Given the description of an element on the screen output the (x, y) to click on. 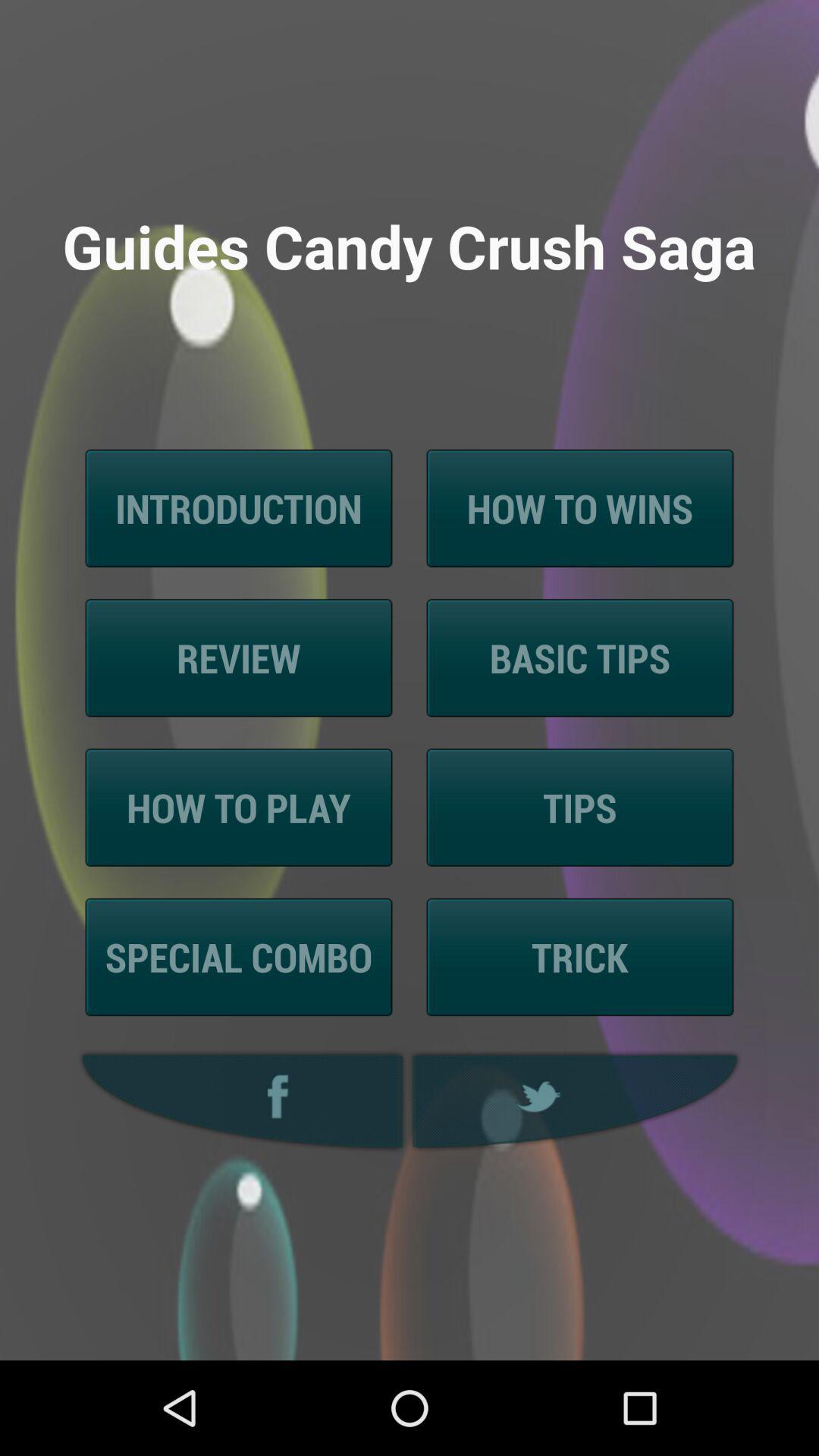
select tips (580, 807)
